Given the description of an element on the screen output the (x, y) to click on. 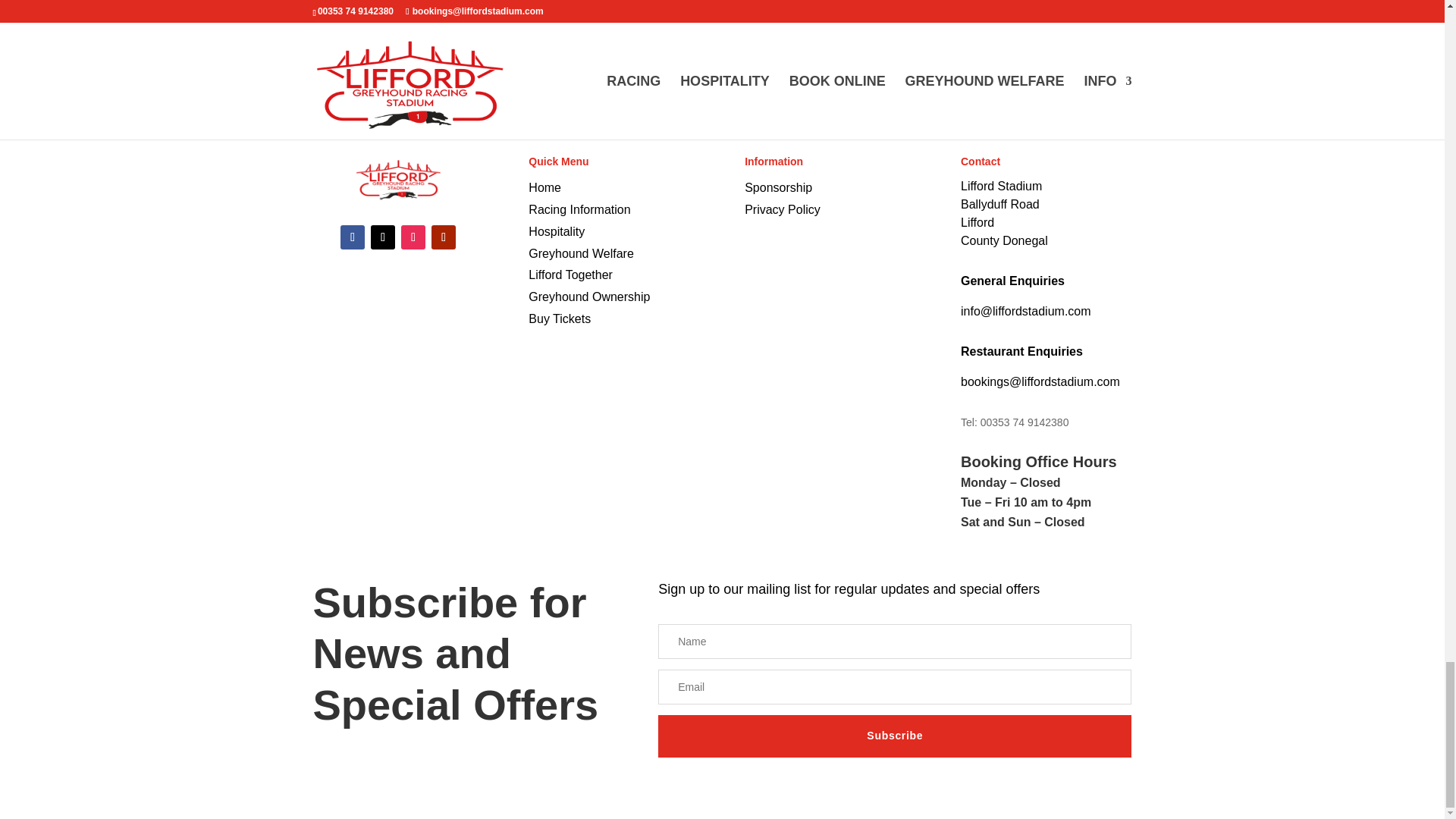
Follow on Youtube (442, 237)
Follow on X (382, 237)
weblogo250x150 (398, 177)
Follow on Instagram (413, 237)
Follow on Facebook (352, 237)
